Given the description of an element on the screen output the (x, y) to click on. 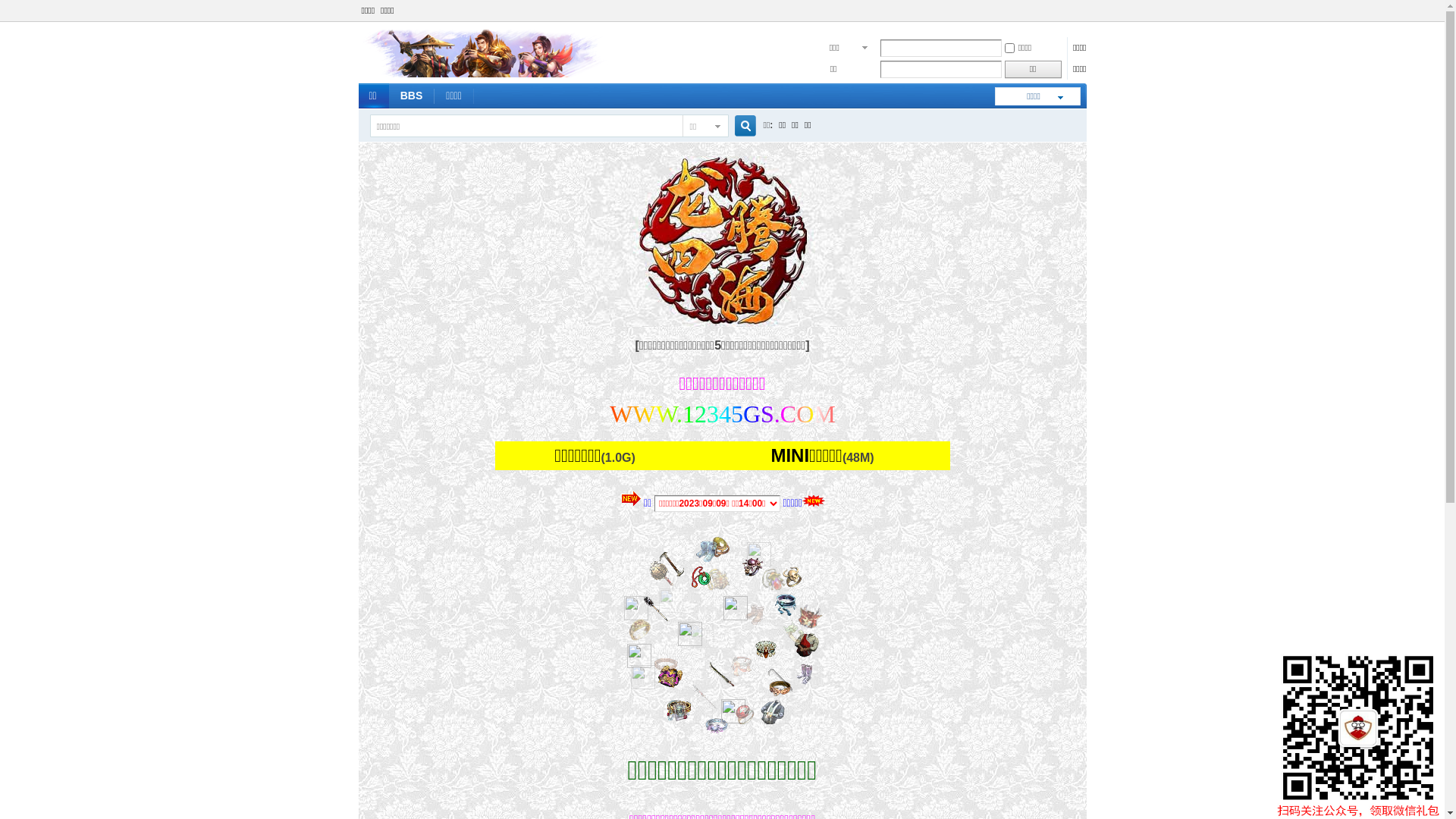
true Element type: text (738, 125)
BBS Element type: text (411, 95)
